Given the description of an element on the screen output the (x, y) to click on. 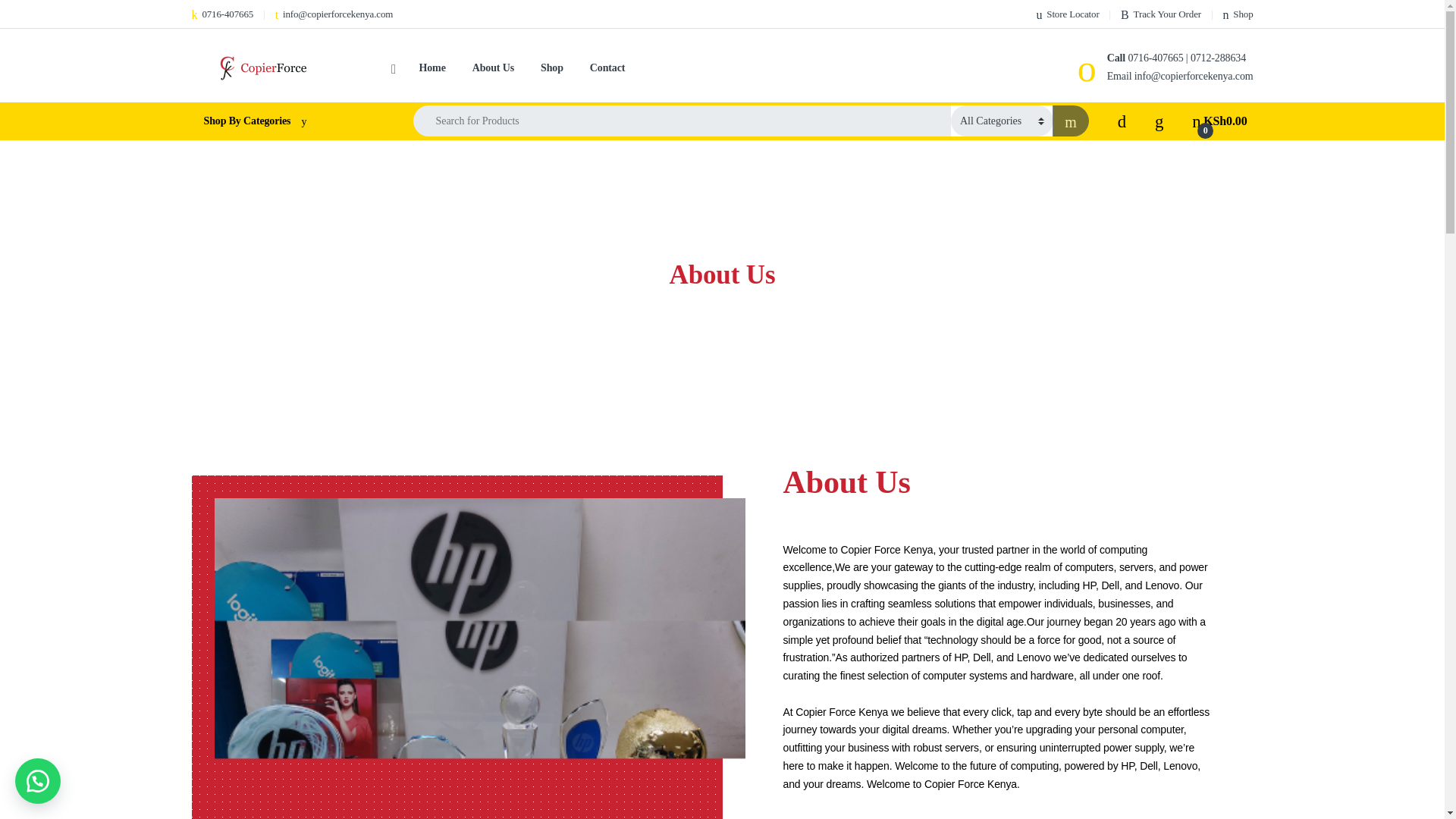
0716-407665 (221, 13)
Shop (1219, 121)
Store Locator (1237, 13)
About Us (1067, 13)
Contact (492, 67)
Track Your Order (606, 67)
About Us (1161, 13)
Shop (492, 67)
Shop By Categories (1237, 13)
0716-407665 (287, 121)
Store Locator (221, 13)
Track Your Order (1067, 13)
